Given the description of an element on the screen output the (x, y) to click on. 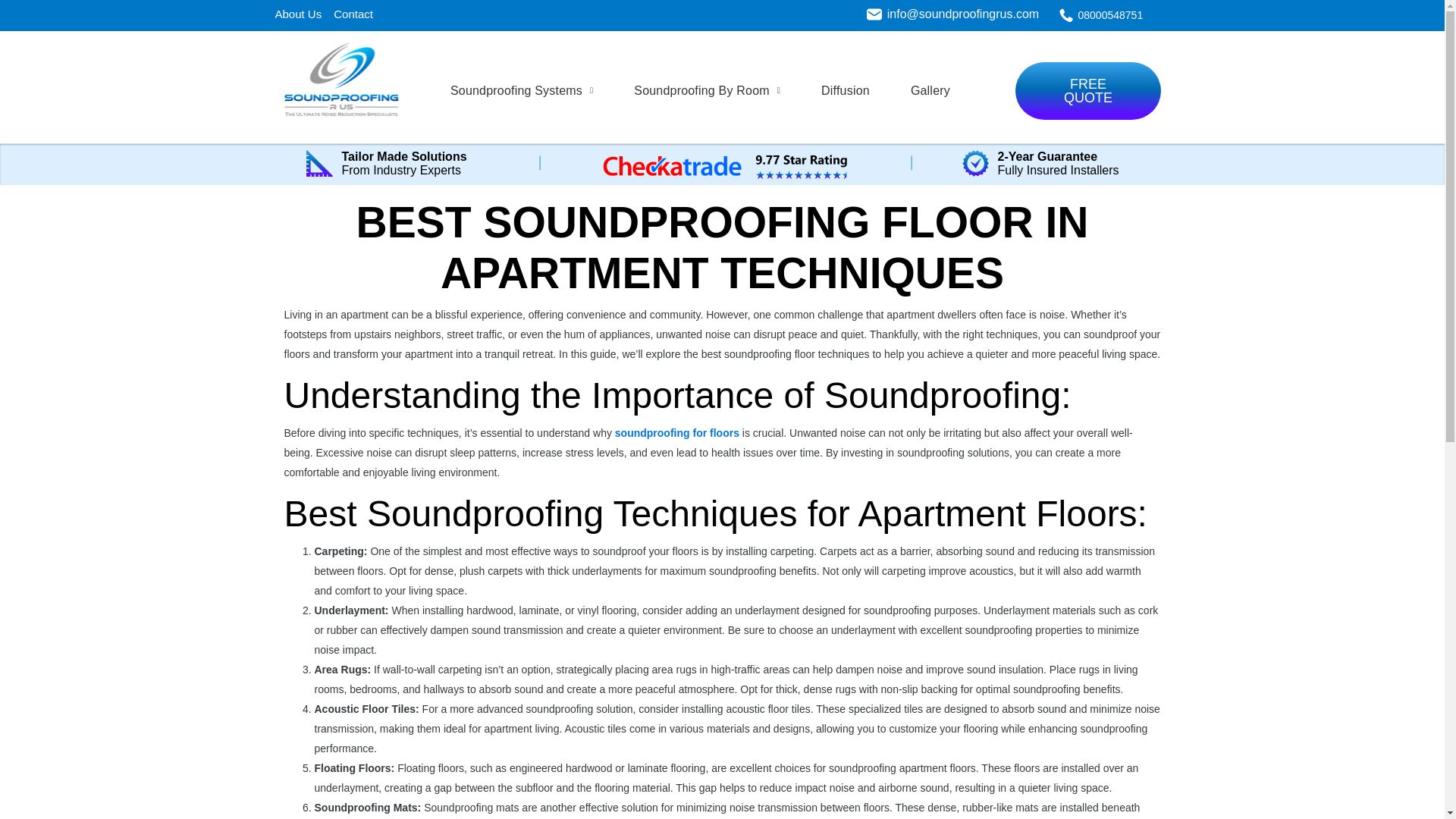
08000548751 (1110, 15)
About Us (298, 14)
Soundproofing By Room (706, 90)
Soundproofing Systems (528, 90)
Contact (352, 14)
